Given the description of an element on the screen output the (x, y) to click on. 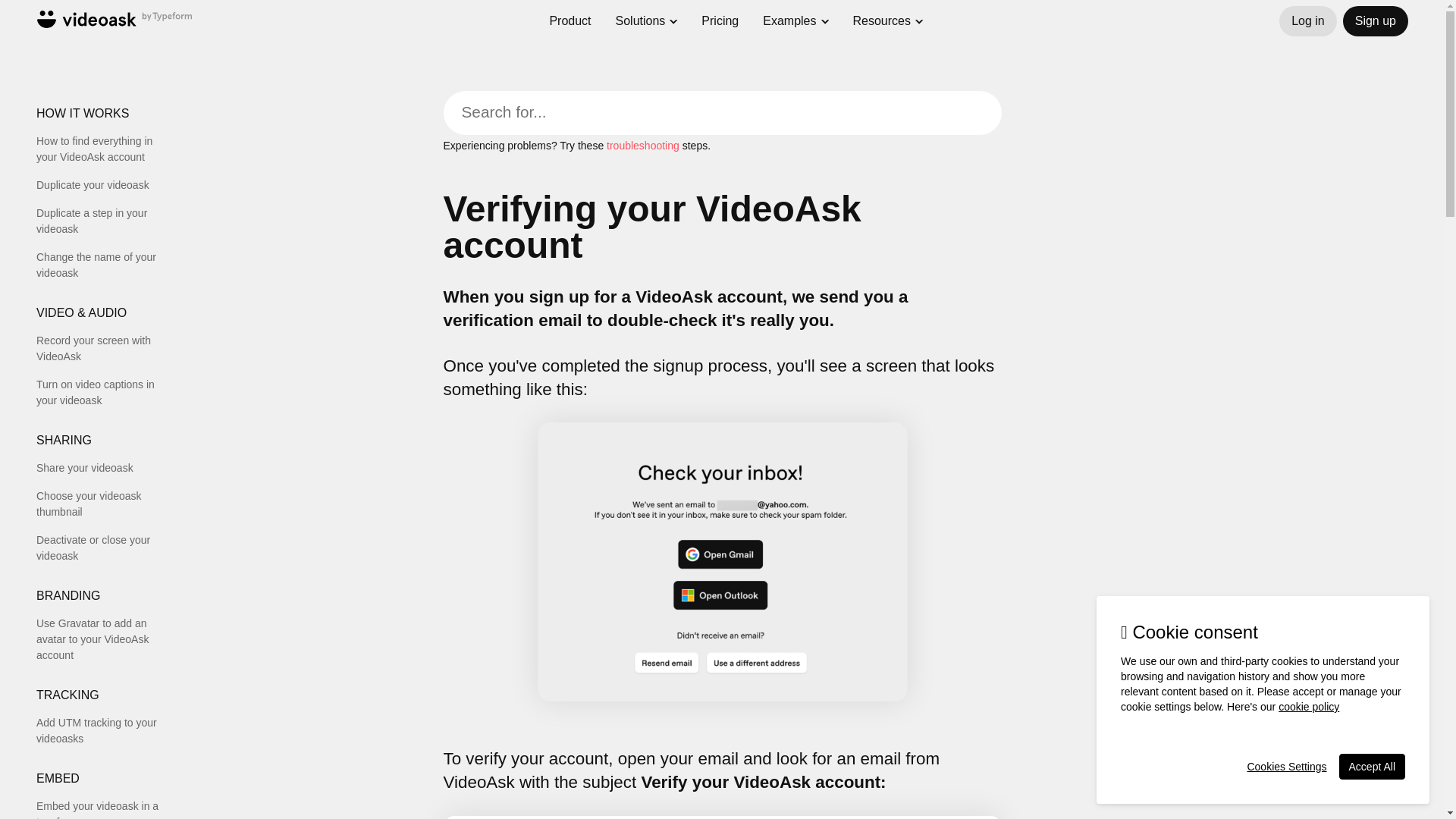
Duplicate your videoask (105, 185)
How to find everything in your VideoAsk account (105, 149)
Product (569, 14)
Sign up (1374, 20)
Choose your videoask thumbnail (105, 504)
Add UTM tracking to your videoasks (105, 730)
Resources (882, 20)
Embed your videoask in a typeform (105, 808)
Share your videoask (105, 467)
Deactivate or close your videoask (105, 548)
